Given the description of an element on the screen output the (x, y) to click on. 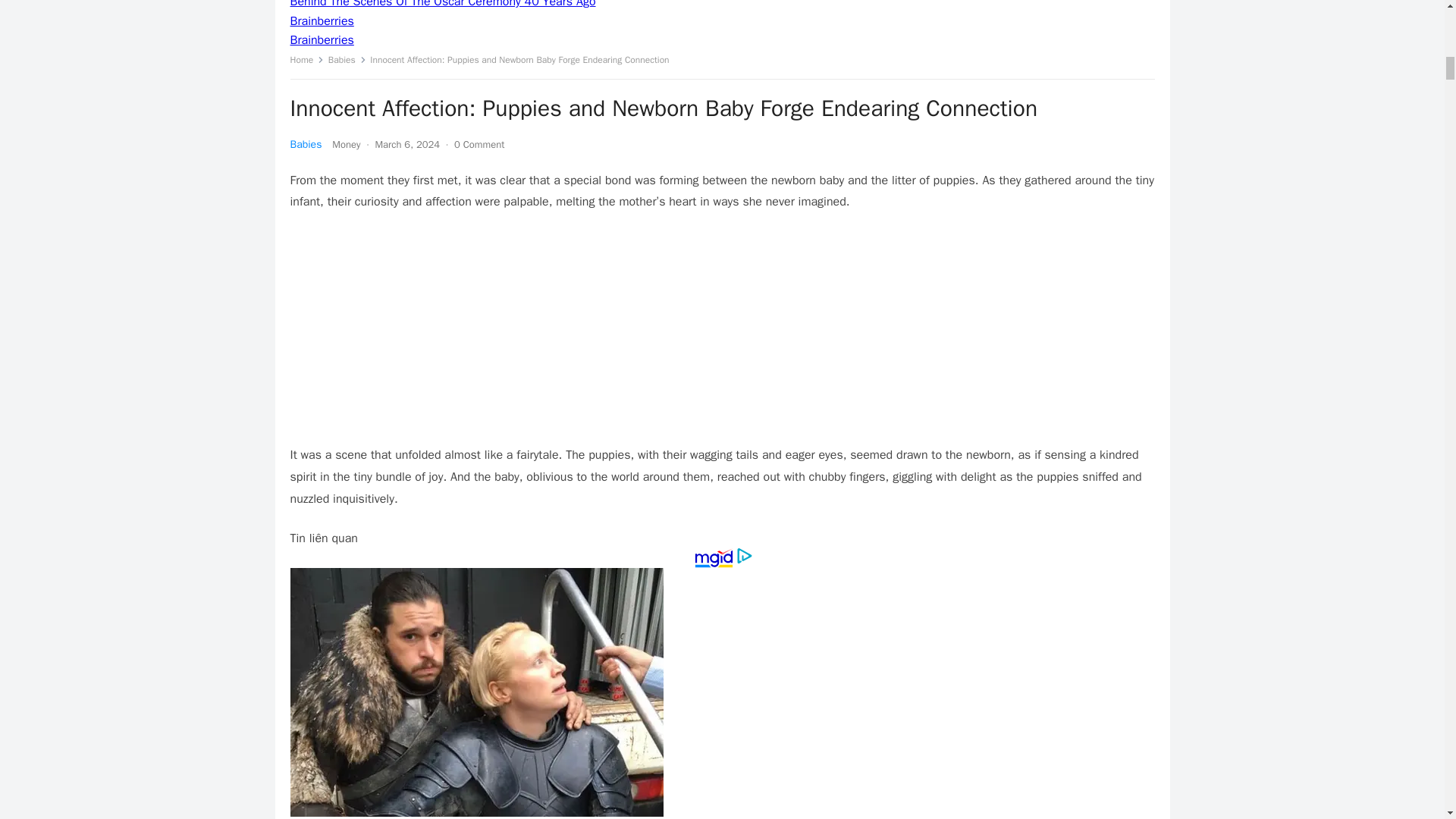
Home (306, 60)
Money (345, 144)
Babies (347, 60)
Babies (305, 144)
0 Comment (478, 144)
